Given the description of an element on the screen output the (x, y) to click on. 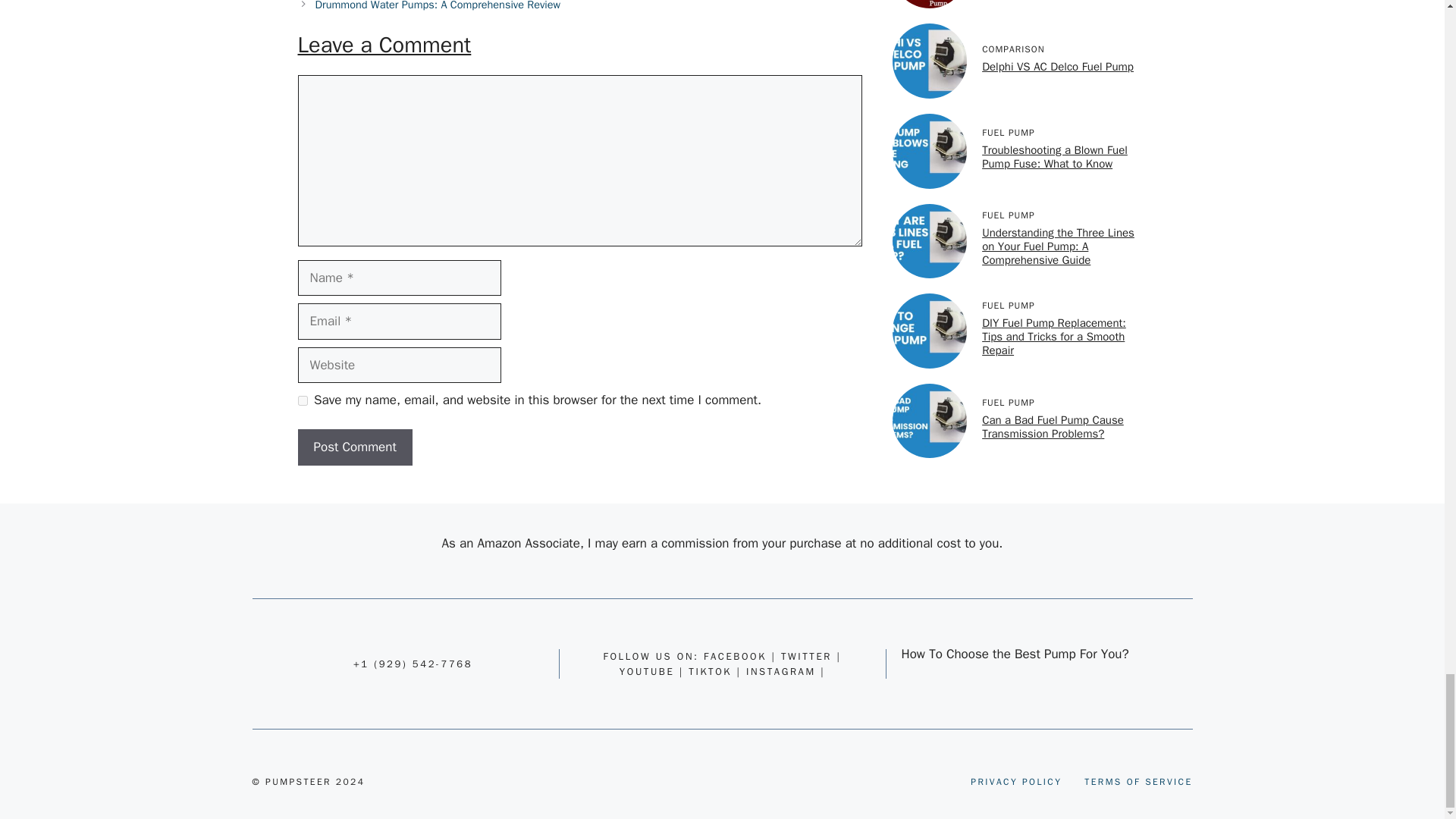
Post Comment (354, 447)
PRIVACY POLICY (1016, 781)
Post Comment (354, 447)
yes (302, 400)
TERMS OF SERVICE (1138, 781)
Drummond Water Pumps: A Comprehensive Review (437, 5)
